Given the description of an element on the screen output the (x, y) to click on. 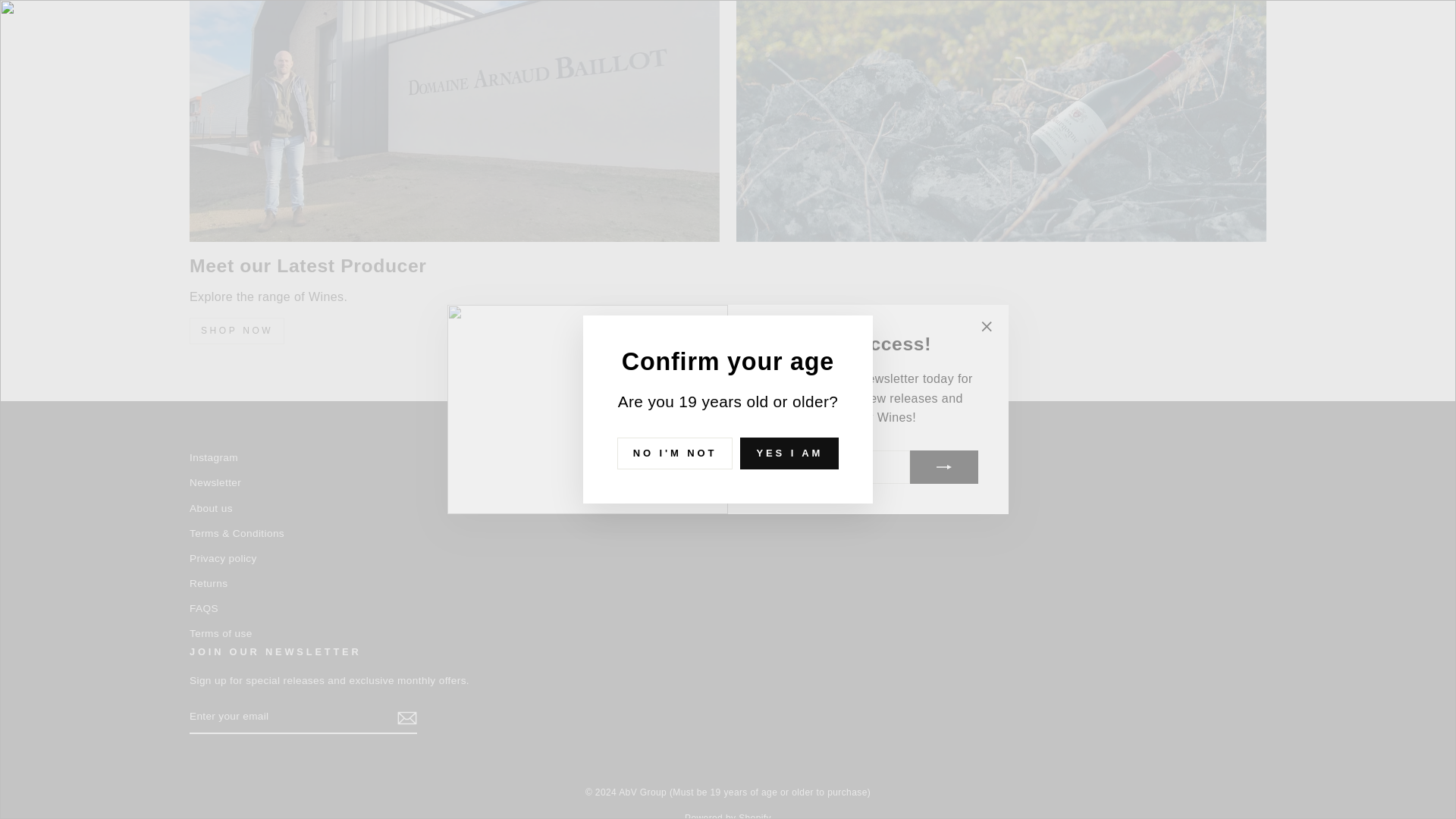
icon-email (406, 718)
